Given the description of an element on the screen output the (x, y) to click on. 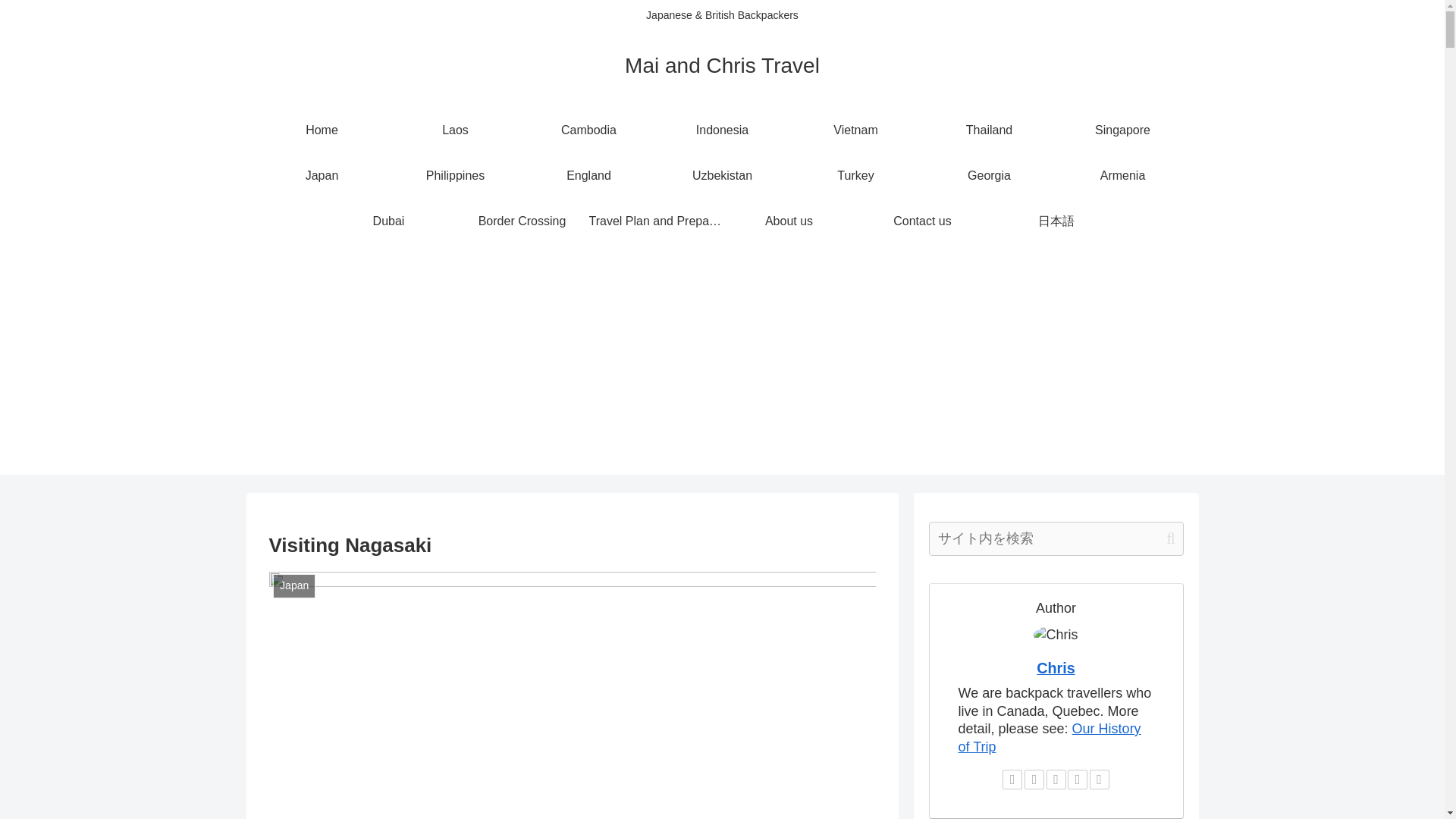
Travel Plan and Preparations (655, 221)
About us (789, 221)
Georgia (988, 176)
Armenia (1122, 176)
Vietnam (855, 130)
Thailand (988, 130)
Japan (321, 176)
Contact us (922, 221)
England (588, 176)
Mai and Chris Travel (721, 68)
Dubai (387, 221)
Uzbekistan (722, 176)
Turkey (855, 176)
Indonesia (722, 130)
Border Crossing (521, 221)
